Given the description of an element on the screen output the (x, y) to click on. 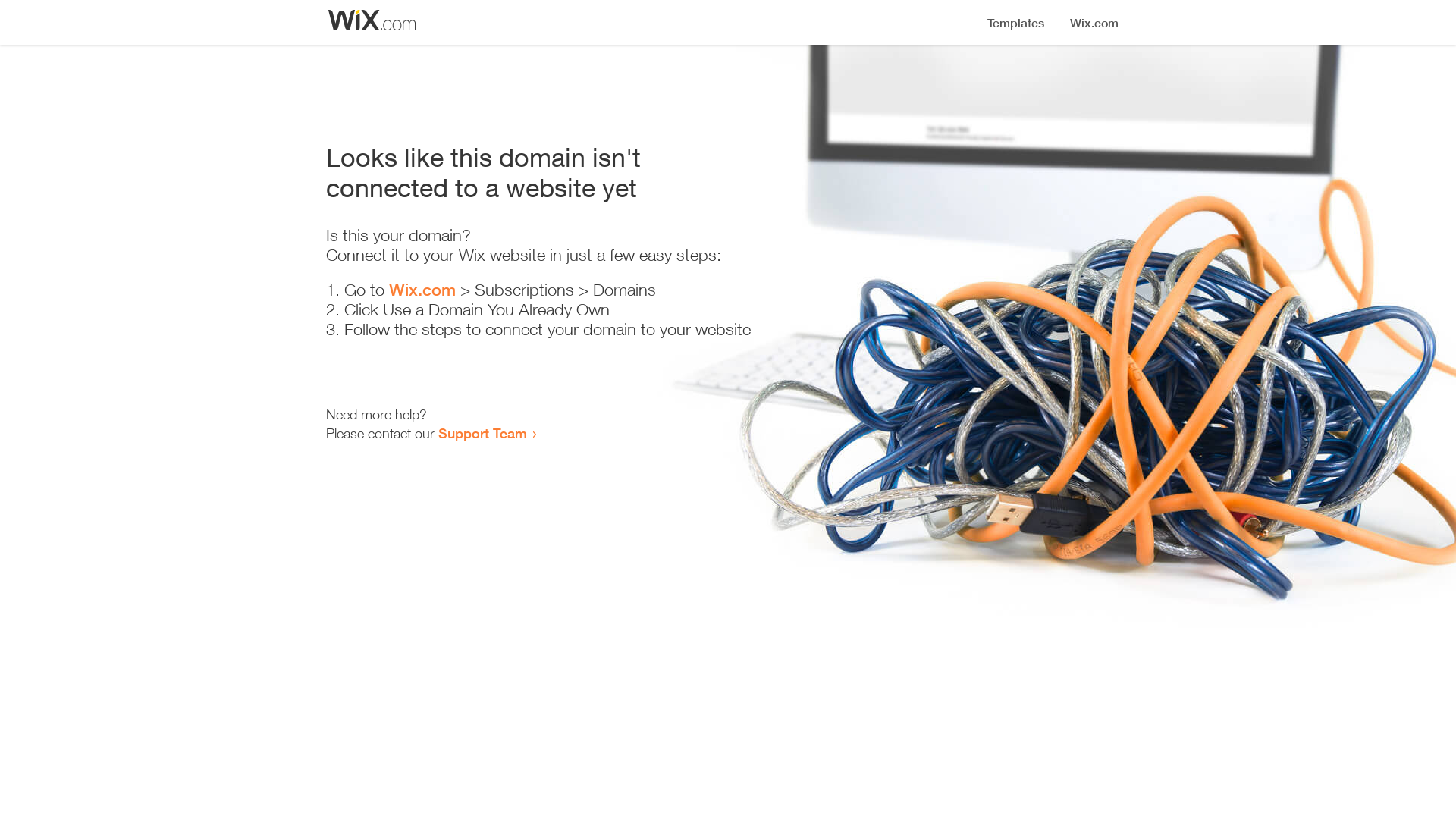
Support Team Element type: text (482, 432)
Wix.com Element type: text (422, 289)
